Given the description of an element on the screen output the (x, y) to click on. 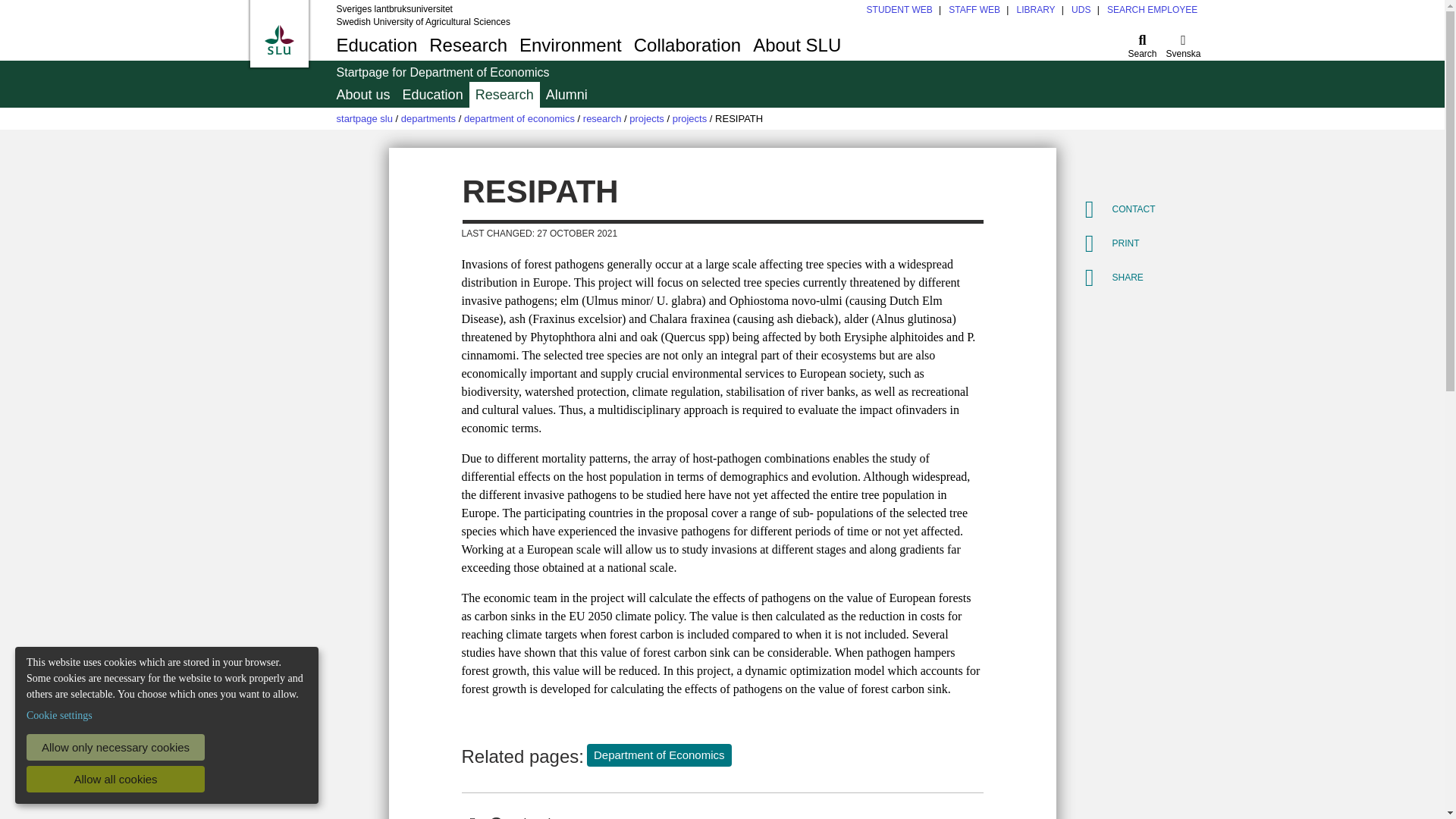
Swedish University of Agricultural Sciences logo (278, 39)
Cookie settings (59, 715)
Search (1142, 45)
STAFF WEB (974, 9)
Education (376, 45)
Svenska (1183, 45)
Allow all cookies (115, 778)
STUDENT WEB (899, 9)
Allow only necessary cookies (115, 746)
SEARCH EMPLOYEE (1151, 9)
UDS (720, 45)
LIBRARY (1080, 9)
